Given the description of an element on the screen output the (x, y) to click on. 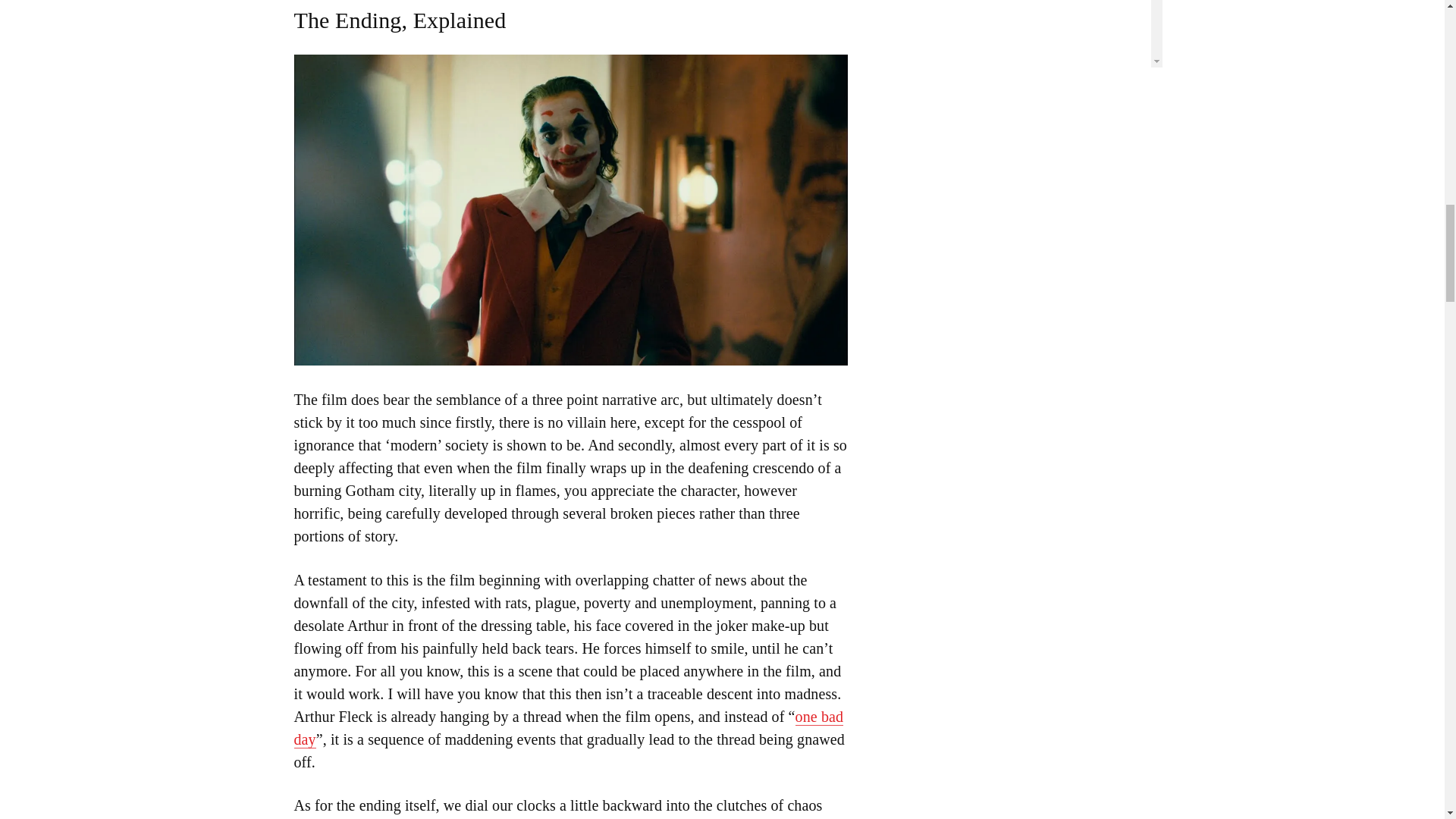
one bad day (569, 728)
